Given the description of an element on the screen output the (x, y) to click on. 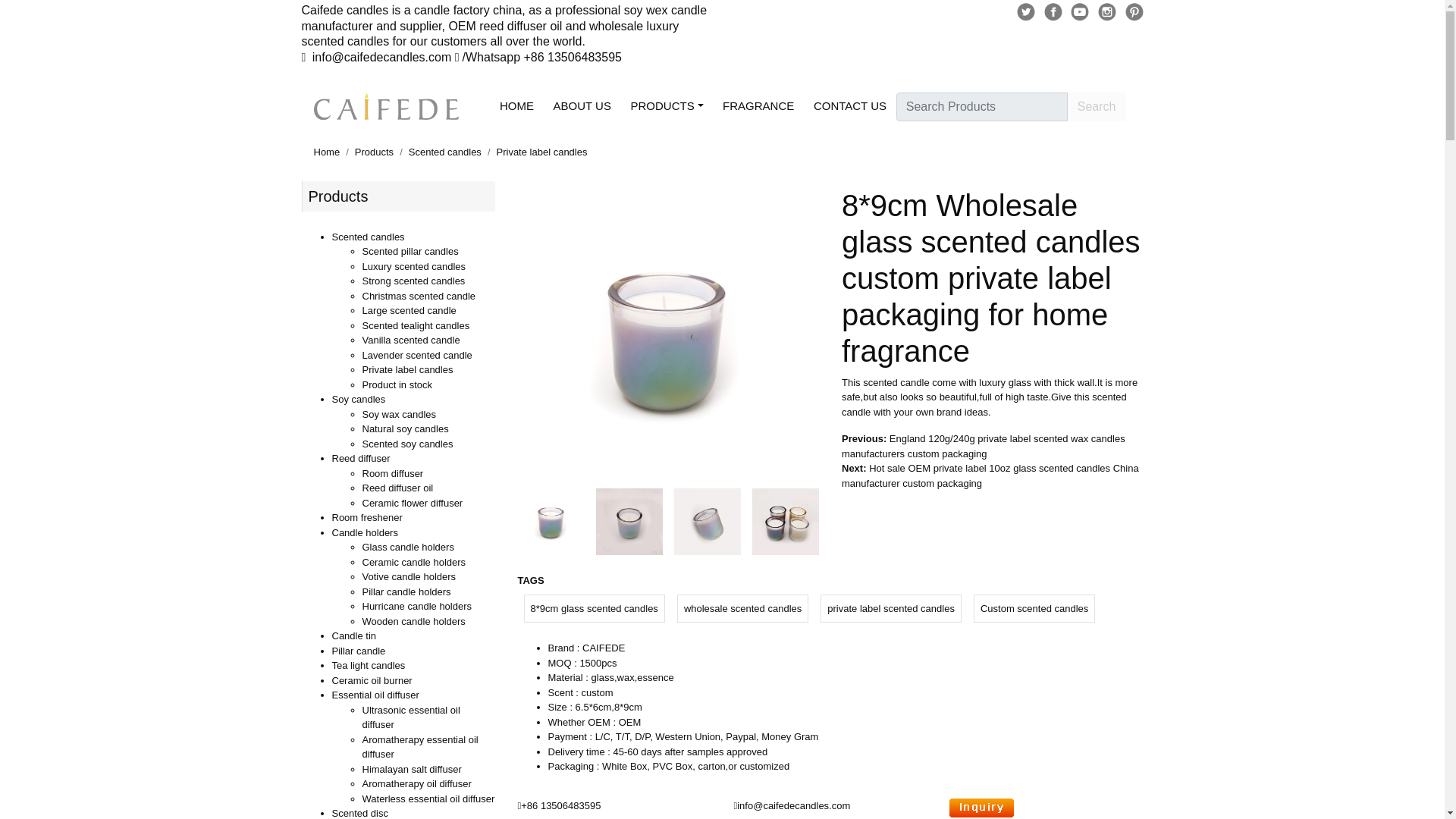
private label scented candles (890, 608)
PRODUCTS (667, 106)
FRAGRANCE (758, 106)
Products (374, 152)
HOME (516, 106)
ABOUT US (582, 106)
Home (327, 152)
Scented candles (445, 152)
Private label candles (541, 152)
CONTACT US (849, 106)
Search (1096, 106)
wholesale scented candles (742, 608)
